Given the description of an element on the screen output the (x, y) to click on. 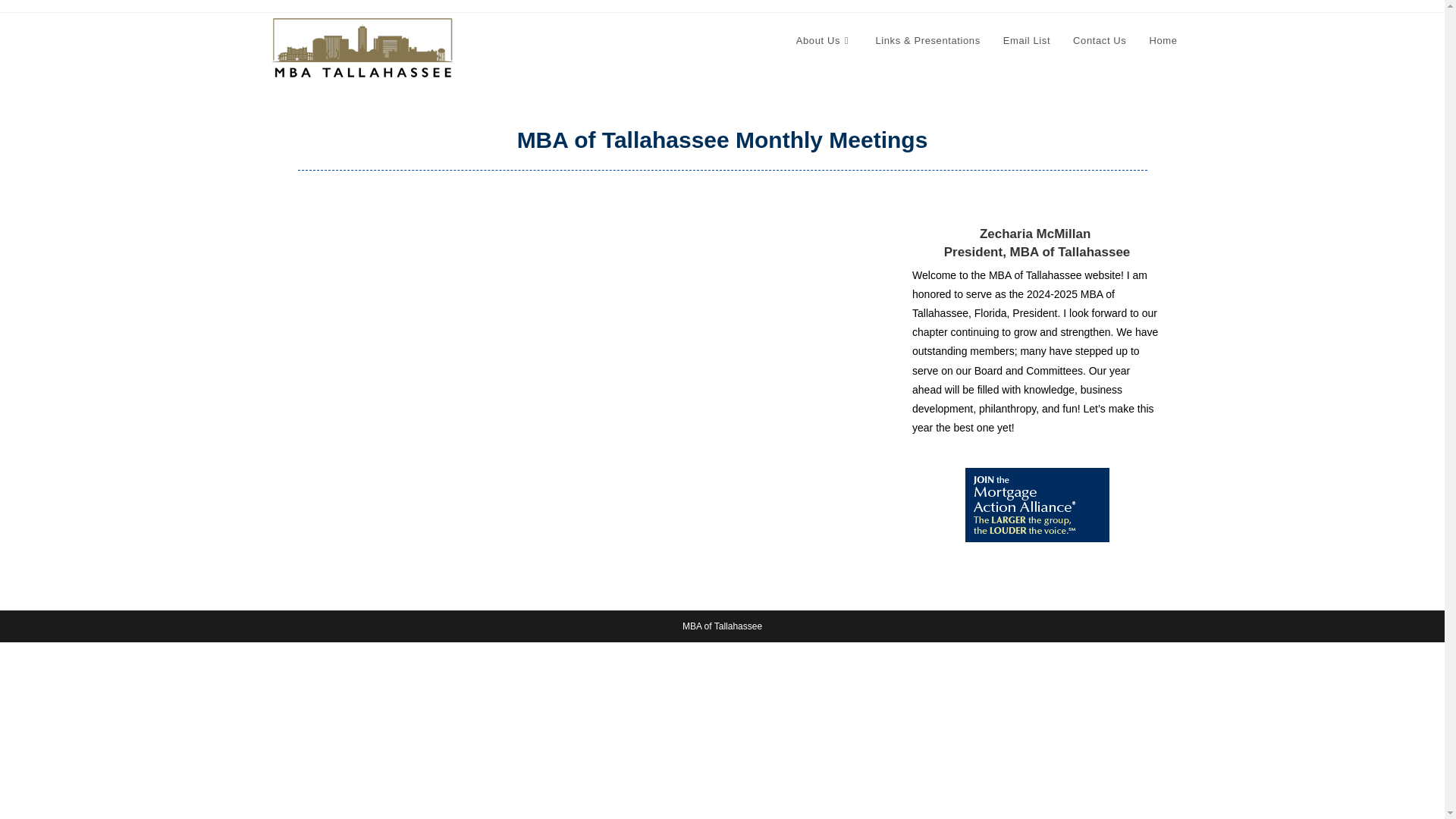
Home (1162, 40)
Email List (1026, 40)
Contact Us (1099, 40)
About Us (824, 40)
